Given the description of an element on the screen output the (x, y) to click on. 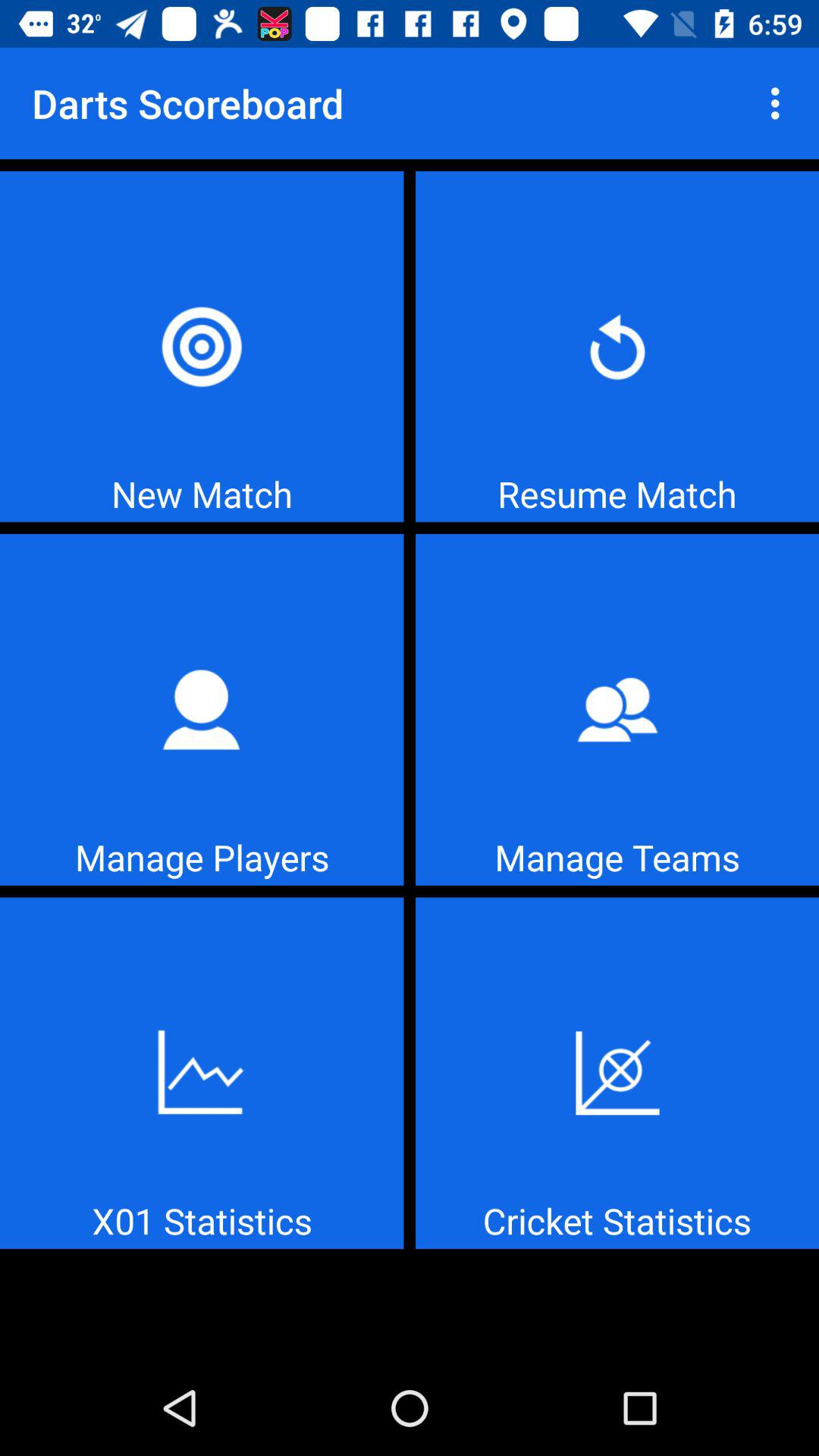
cricket statistics button (617, 1072)
